Given the description of an element on the screen output the (x, y) to click on. 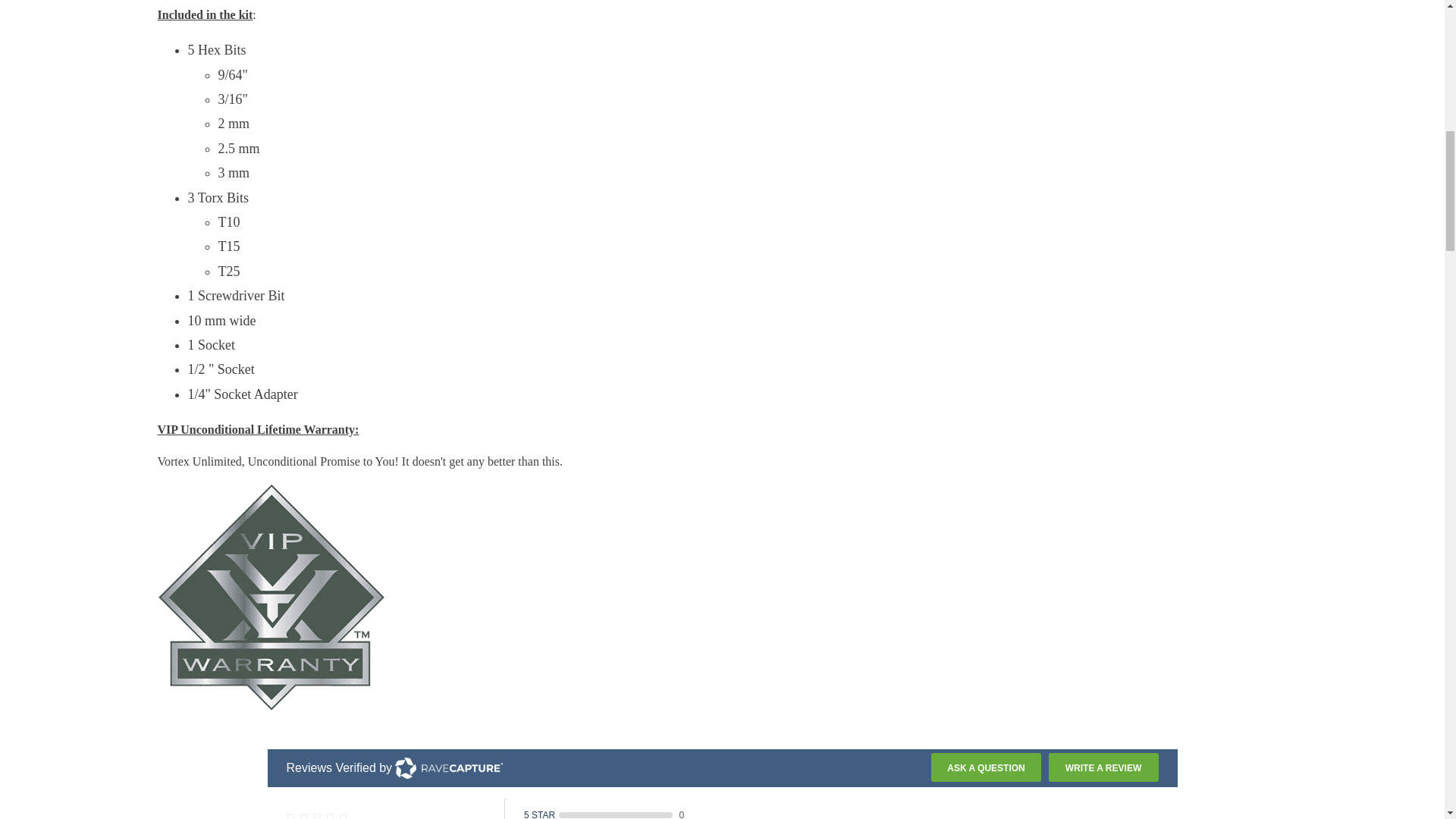
RaveCapture Logo (448, 767)
Write review (1102, 767)
Ask question (986, 767)
0 stars (395, 814)
